Given the description of an element on the screen output the (x, y) to click on. 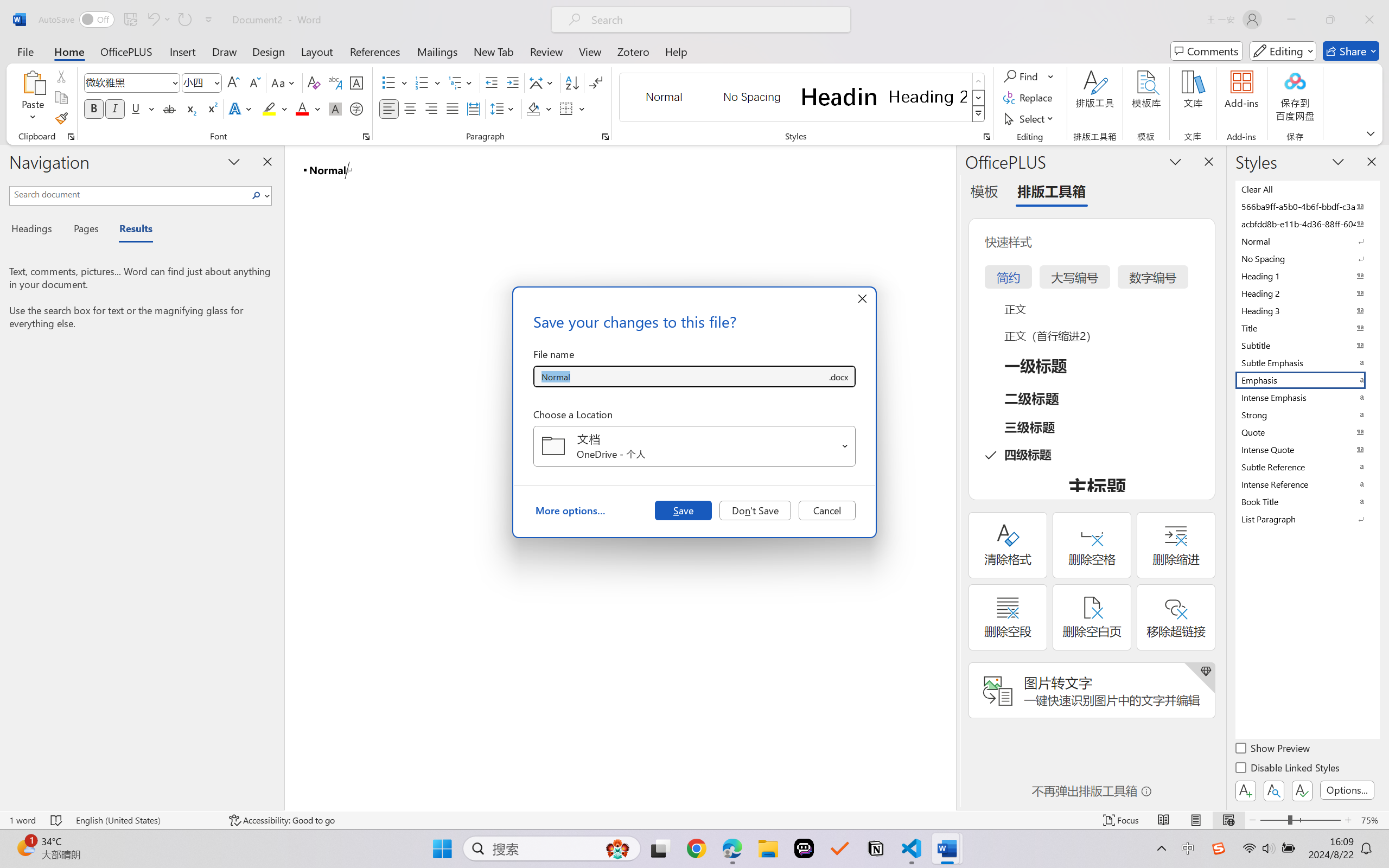
Numbering (421, 82)
Class: NetUIButton (1301, 790)
Draw (224, 51)
Search (256, 195)
Grow Font (233, 82)
Intense Emphasis (1306, 397)
Book Title (1306, 501)
Text Highlight Color (274, 108)
Normal (1306, 240)
Row Down (978, 97)
Quick Access Toolbar (127, 19)
Share (1350, 51)
Office Clipboard... (70, 136)
